Given the description of an element on the screen output the (x, y) to click on. 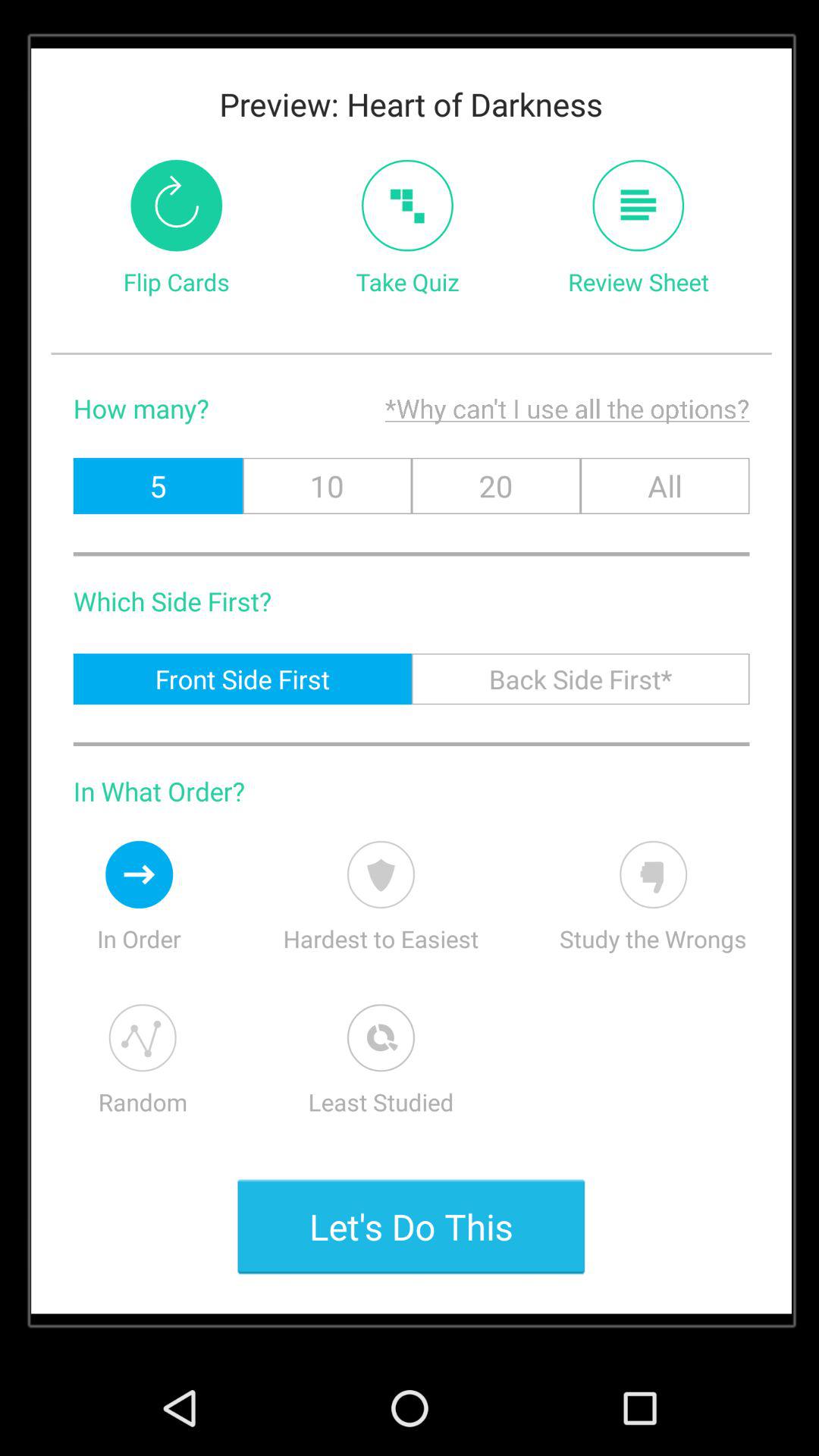
sort the cards in order of least studied (380, 1037)
